Given the description of an element on the screen output the (x, y) to click on. 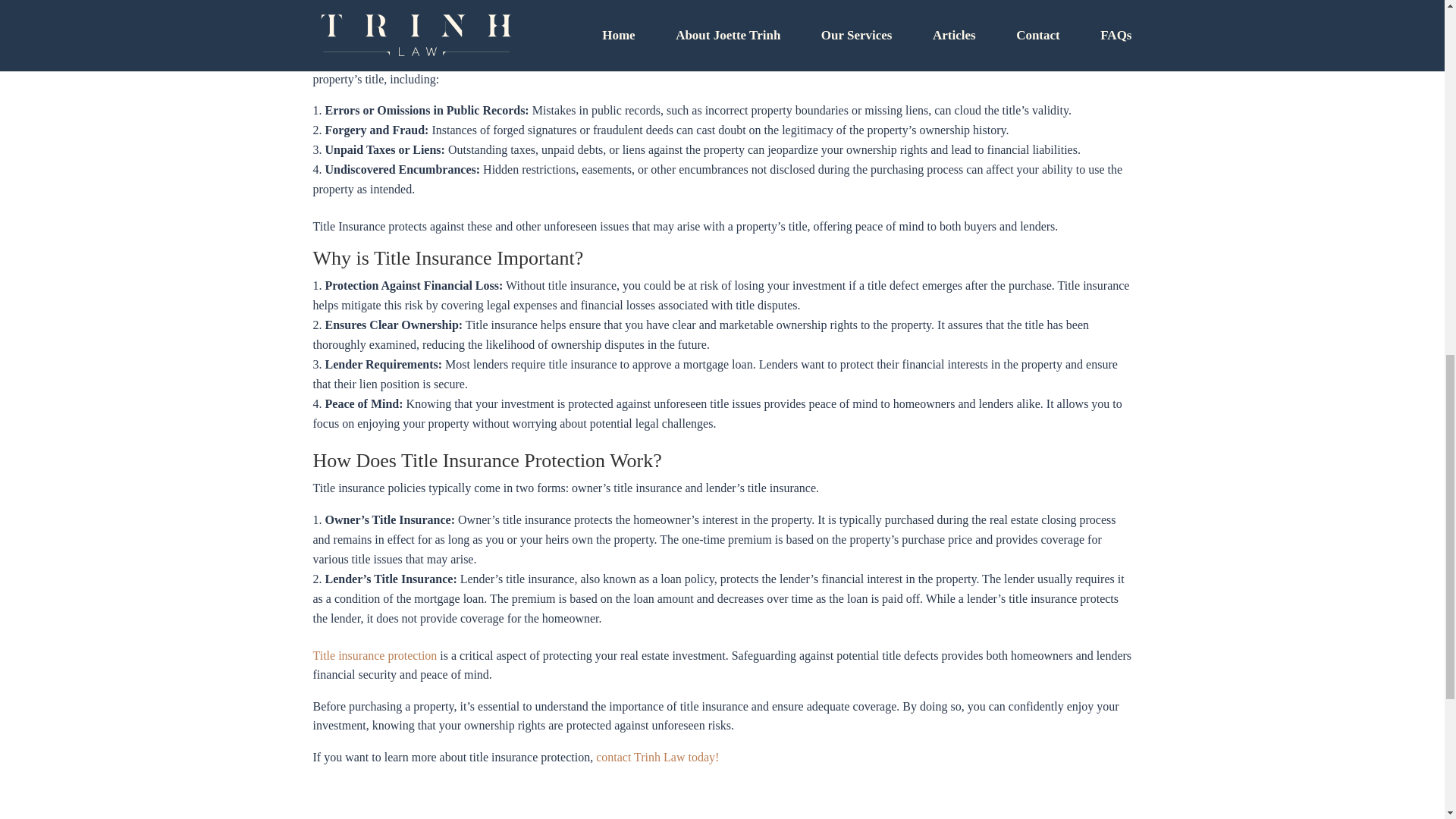
contact Trinh Law today! (657, 757)
Title insurance protection (374, 655)
